Given the description of an element on the screen output the (x, y) to click on. 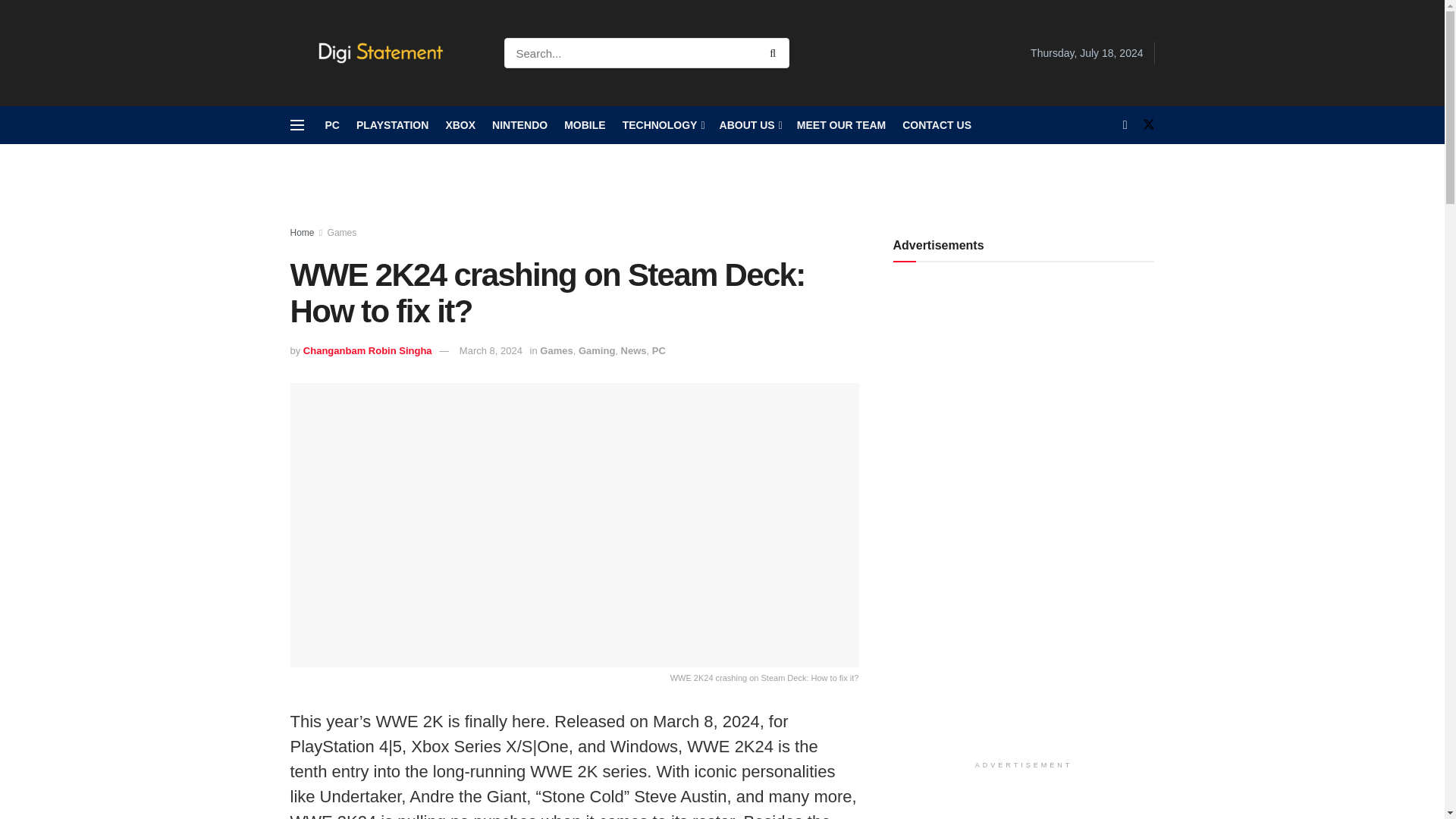
PLAYSTATION (392, 125)
MEET OUR TEAM (840, 125)
ABOUT US (749, 125)
PC (331, 125)
MOBILE (584, 125)
NINTENDO (519, 125)
XBOX (460, 125)
TECHNOLOGY (663, 125)
CONTACT US (936, 125)
